Given the description of an element on the screen output the (x, y) to click on. 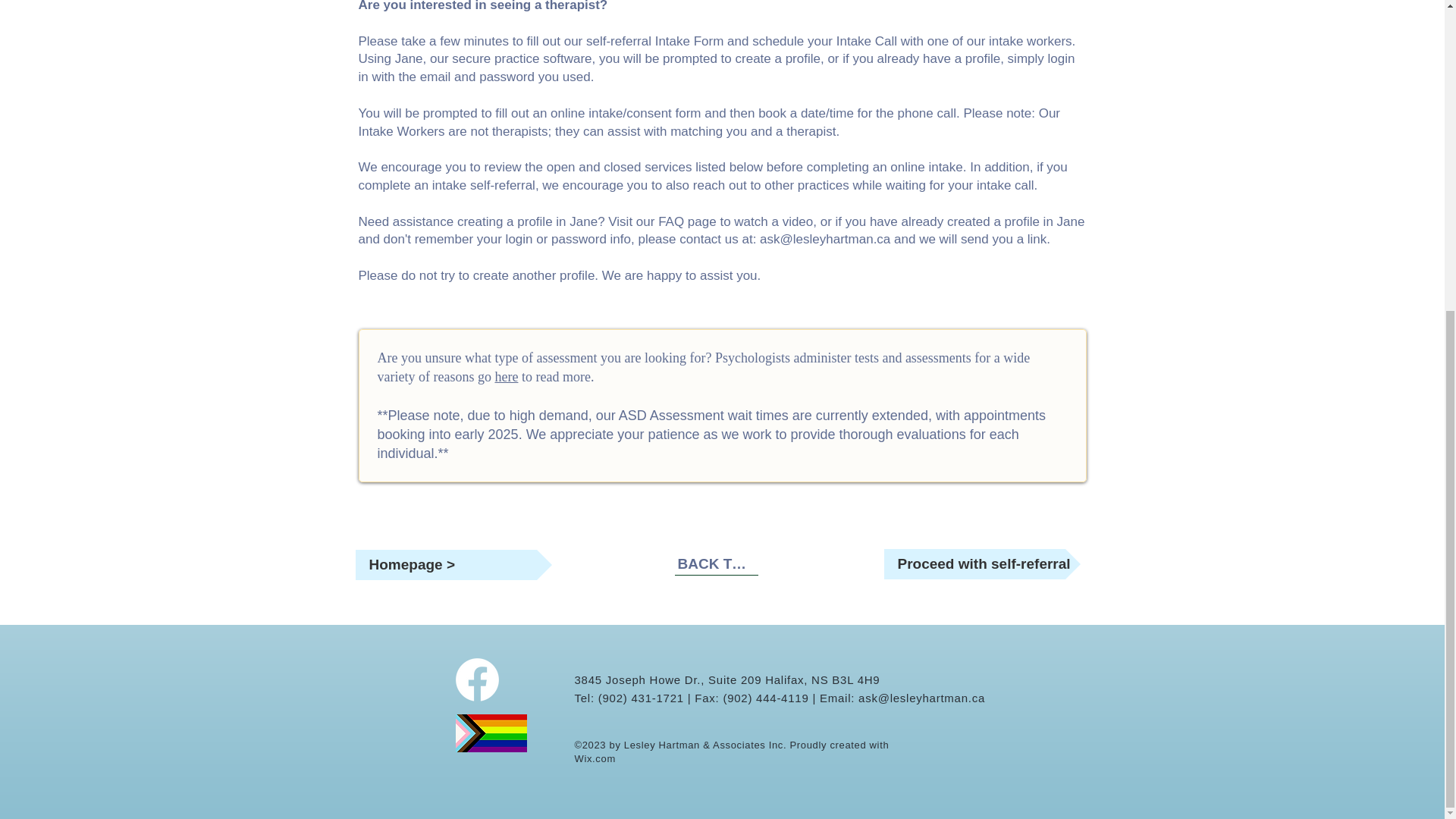
here (506, 376)
BACK TO TOP (716, 563)
Proceed with self-referral (981, 563)
Halifax, NS B3L 4H9 (822, 679)
Facebook Icon.png (475, 679)
Suite 209  (736, 679)
FAQ page (687, 221)
Wix.com (595, 758)
3845 Joseph Howe Dr.,  (642, 679)
